Given the description of an element on the screen output the (x, y) to click on. 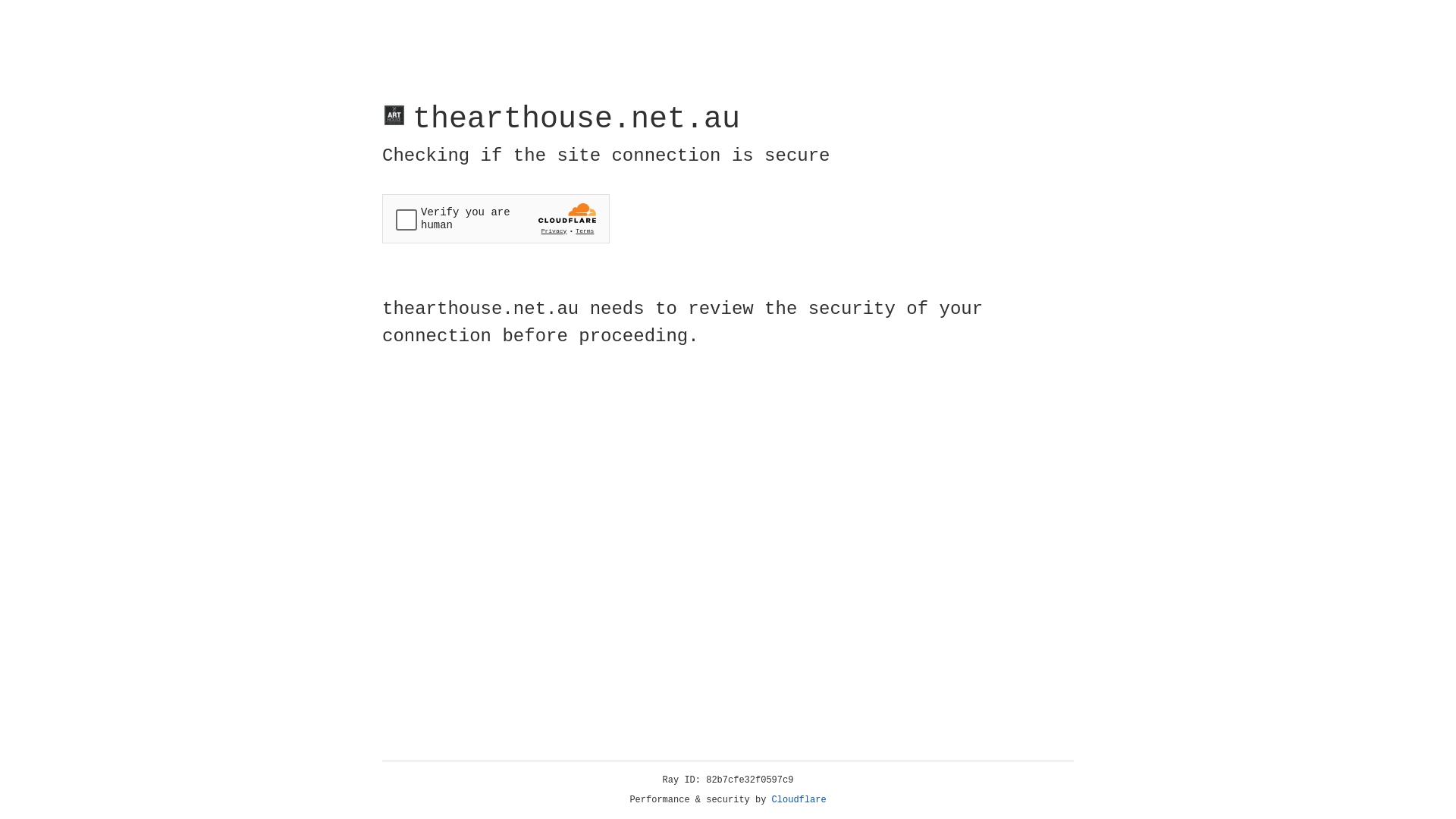
Widget containing a Cloudflare security challenge Element type: hover (495, 218)
Cloudflare Element type: text (798, 799)
